Given the description of an element on the screen output the (x, y) to click on. 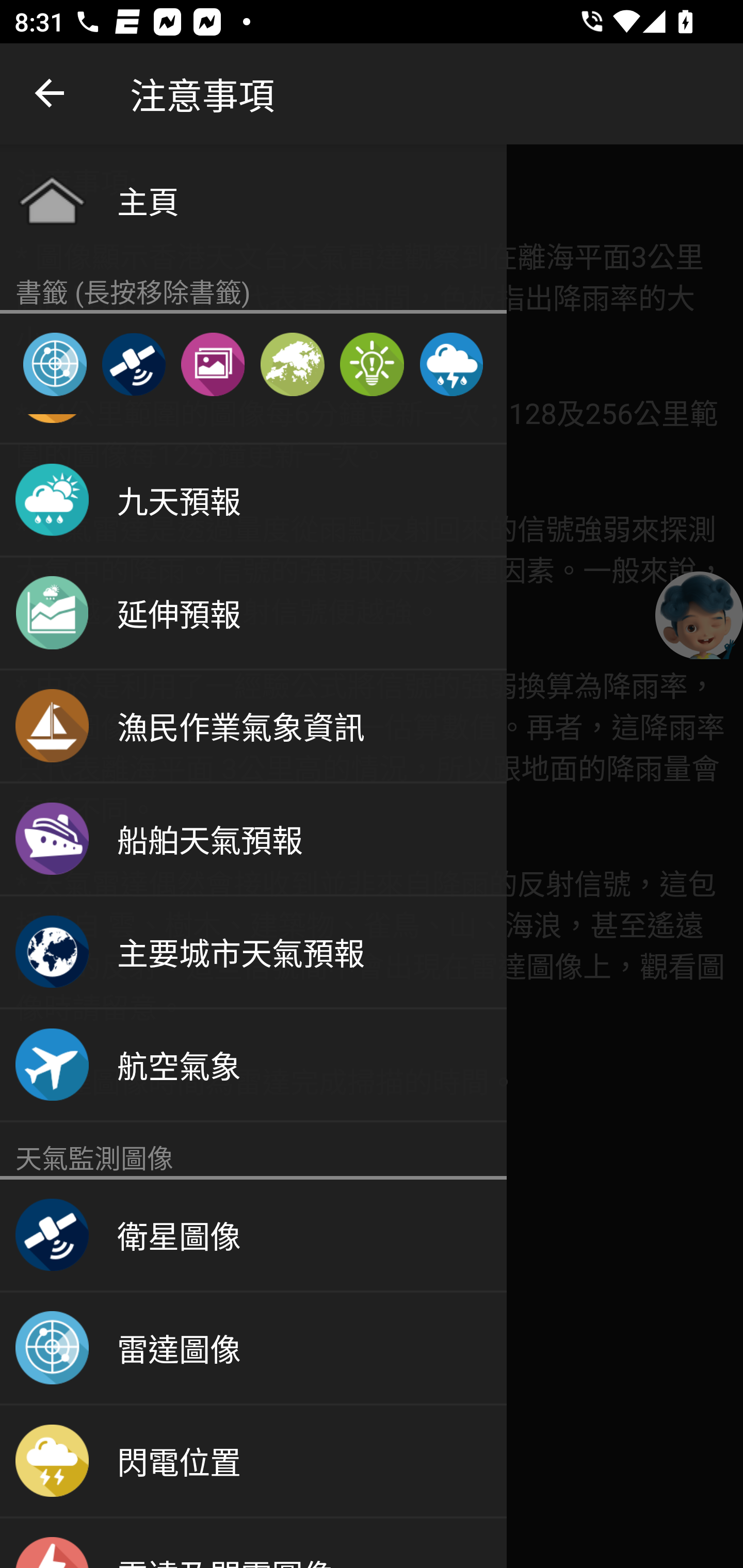
向上瀏覽 (50, 93)
主頁 (253, 199)
雷達圖像 (54, 364)
衛星圖像 (133, 364)
天氣照片 (212, 364)
分區天氣 (292, 364)
天氣提示 (371, 364)
定點降雨及閃電預報 (451, 364)
九天預報 (253, 500)
延伸預報 (253, 613)
漁民作業氣象資訊 (253, 726)
船舶天氣預報 (253, 839)
主要城市天氣預報 (253, 952)
航空氣象 (253, 1065)
衛星圖像 (253, 1235)
雷達圖像 (253, 1348)
閃電位置 (253, 1460)
